Given the description of an element on the screen output the (x, y) to click on. 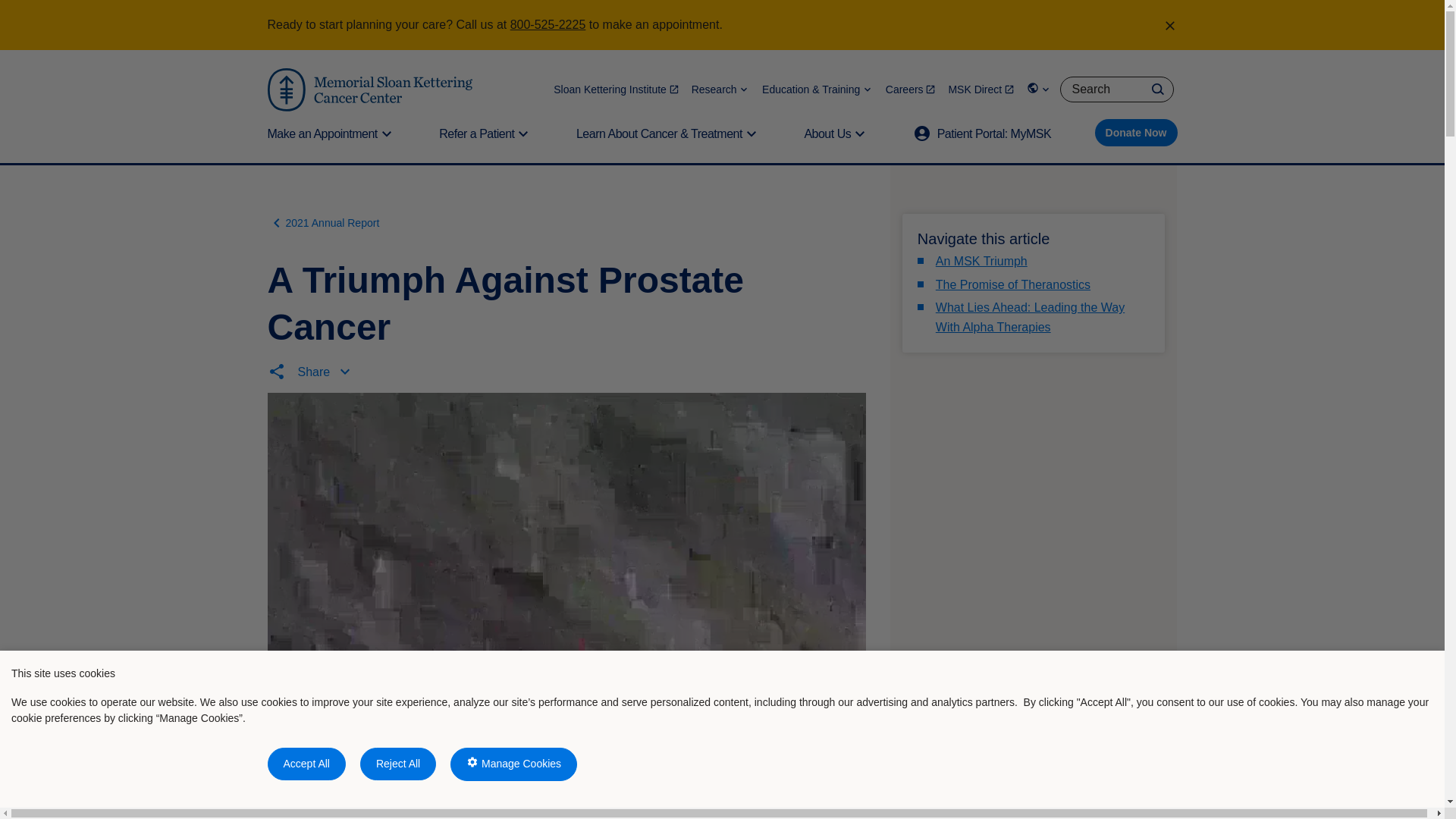
Insert a query. Press enter to send (1115, 88)
Sloan Kettering Institute (615, 89)
800-525-2225 (548, 24)
Manage Cookies (512, 764)
Donate Now (1135, 132)
Accept All (305, 763)
Reject All (397, 763)
Research (720, 89)
